Given the description of an element on the screen output the (x, y) to click on. 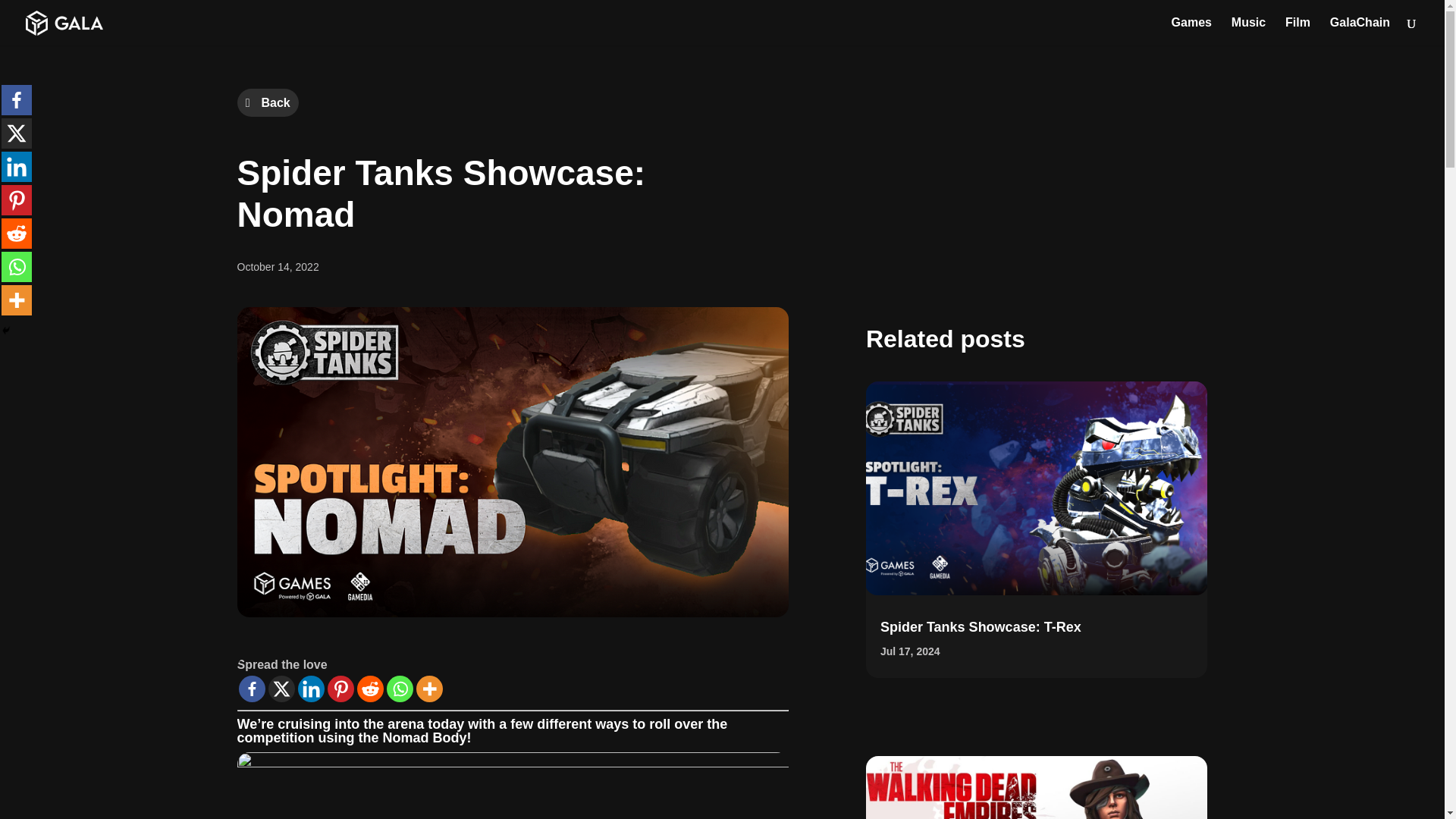
More (16, 300)
More (428, 688)
Linkedin (310, 688)
Facebook (16, 100)
Film (1297, 31)
Games (1191, 31)
Whatsapp (400, 688)
Music (1248, 31)
Facebook (251, 688)
Reddit (369, 688)
X (16, 132)
Spider Tanks Showcase: T-Rex (980, 626)
X (281, 688)
GalaChain (1360, 31)
Whatsapp (16, 266)
